Given the description of an element on the screen output the (x, y) to click on. 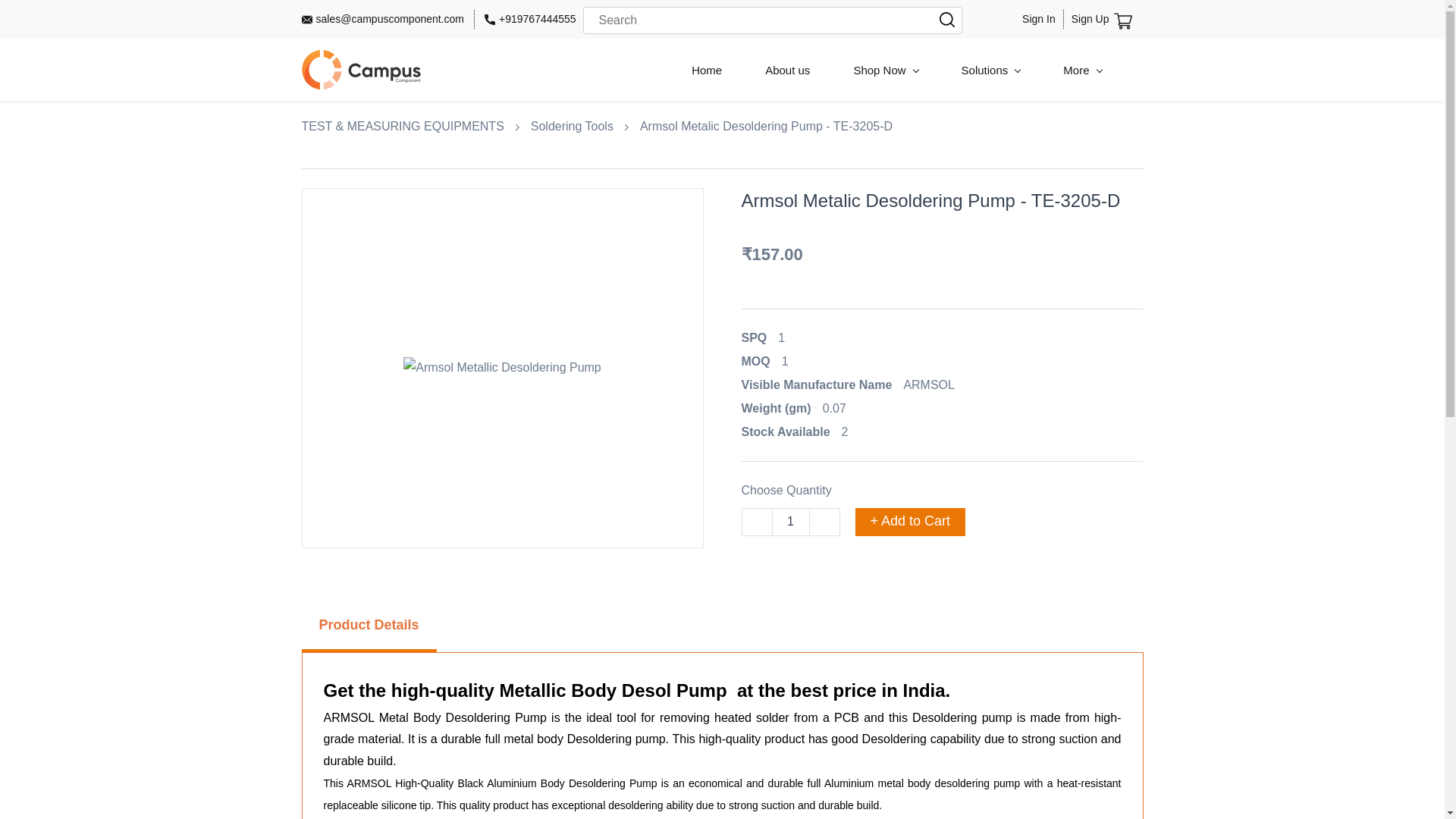
Go (937, 20)
1 (790, 521)
Sign Up (1090, 18)
Armsol Metallic Desoldering Pump (502, 368)
quantity (790, 521)
Sign In (1038, 18)
Go (937, 20)
About us (787, 69)
Shop Now (885, 69)
Home (706, 69)
